Given the description of an element on the screen output the (x, y) to click on. 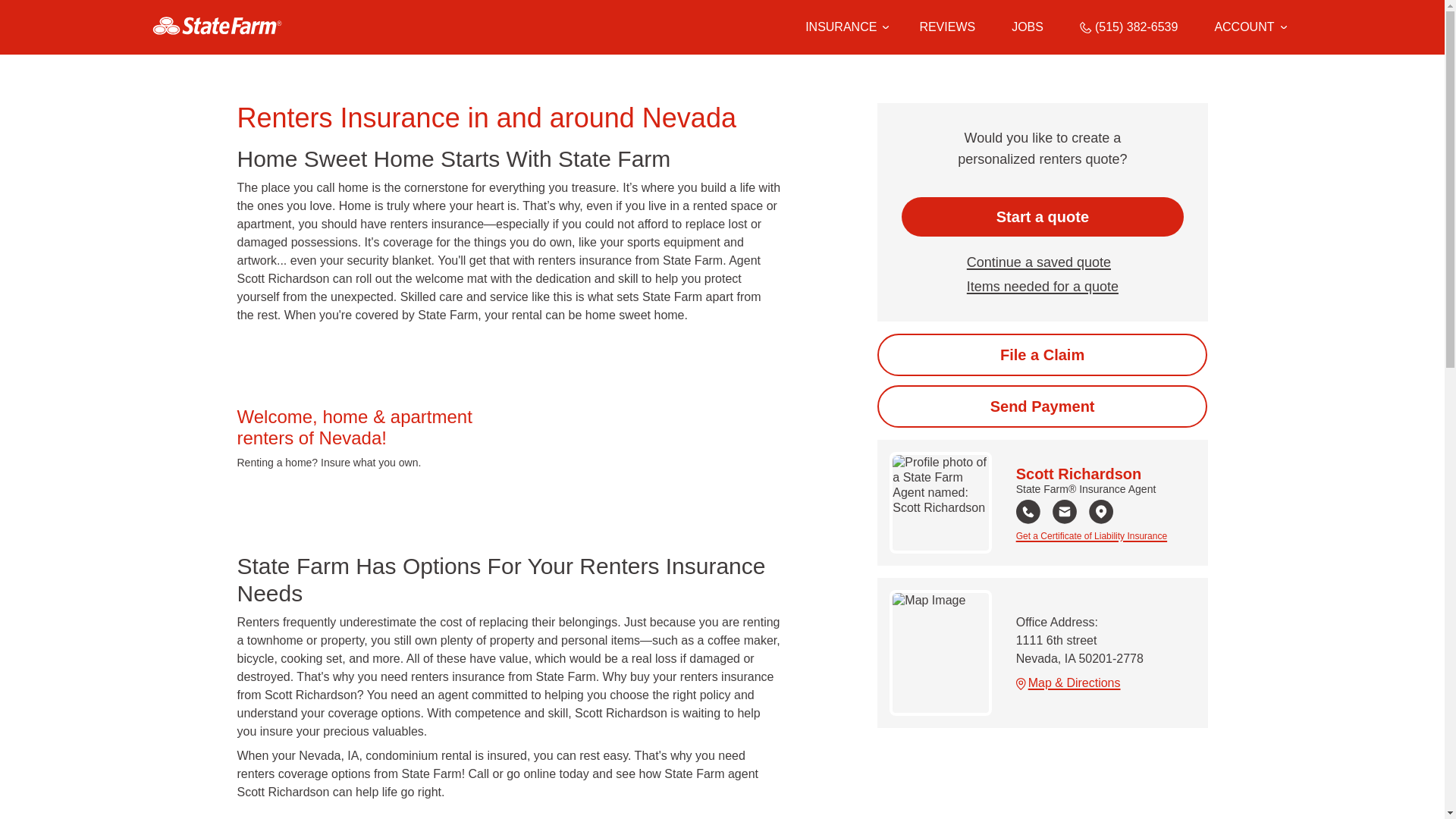
INSURANCE (840, 27)
Insurance (844, 27)
ACCOUNT (1250, 27)
JOBS (1027, 27)
Start the claim process online (1042, 354)
Account Options (1250, 27)
REVIEWS (946, 27)
